Given the description of an element on the screen output the (x, y) to click on. 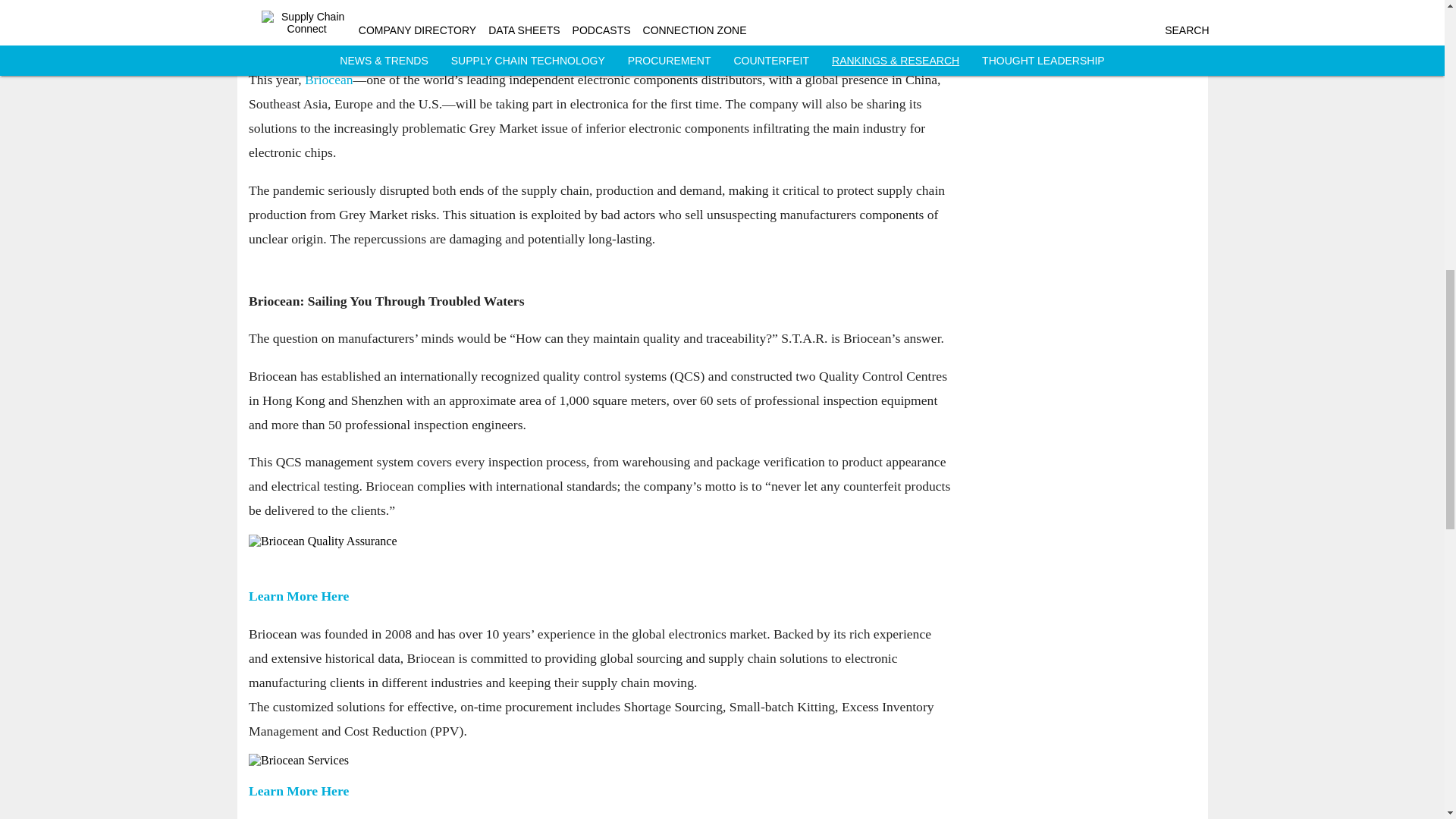
Briocean Quality Assurance (600, 540)
Learn More Here (298, 790)
Briocean Services (600, 760)
Briocean (328, 79)
Learn More Here (298, 595)
